Given the description of an element on the screen output the (x, y) to click on. 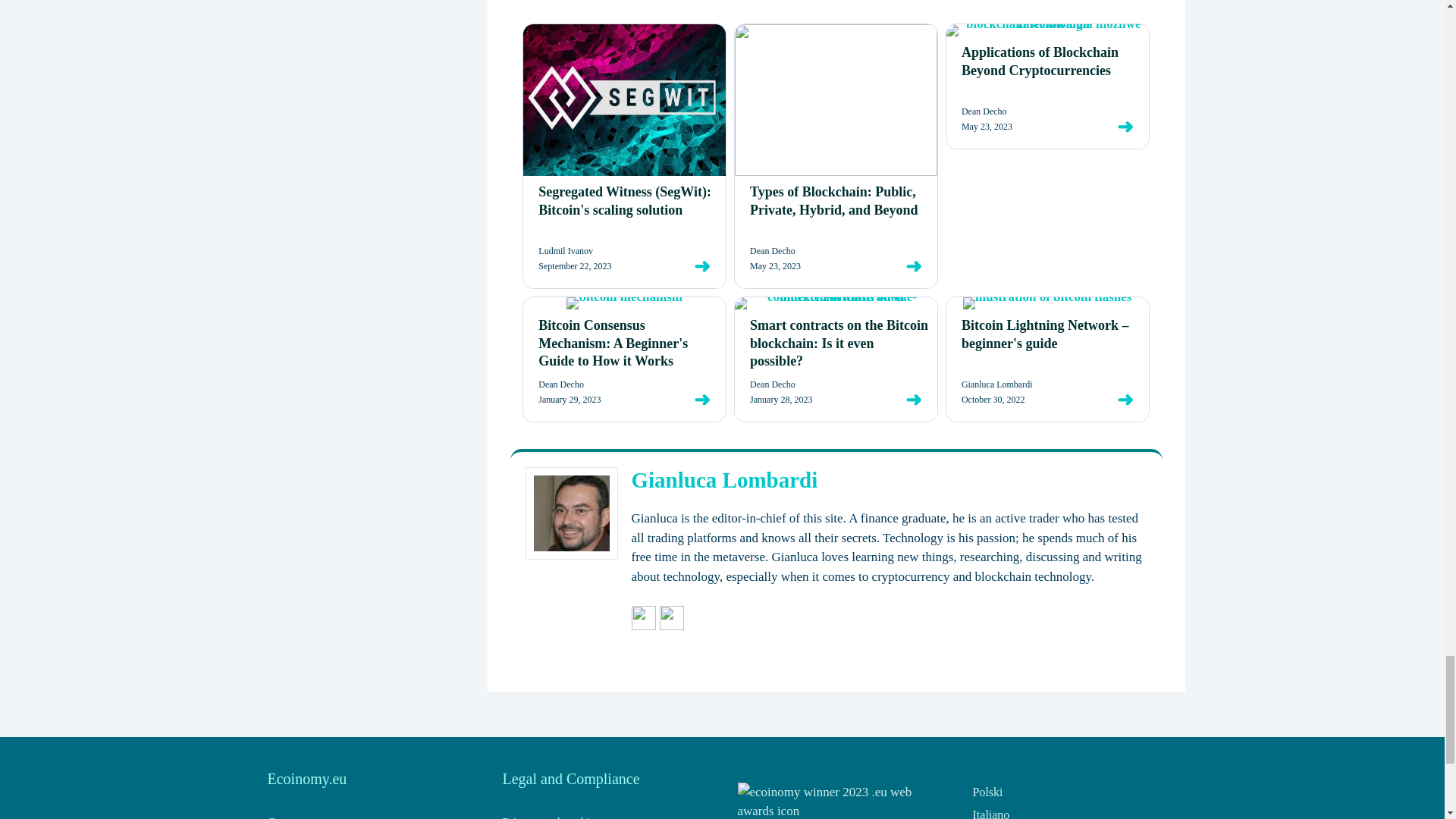
Gianluca Lombardi (723, 479)
More Posts By Gianluca Lombardi (671, 626)
Contatto (287, 817)
Send Gianluca Lombardi Mail (642, 626)
